Given the description of an element on the screen output the (x, y) to click on. 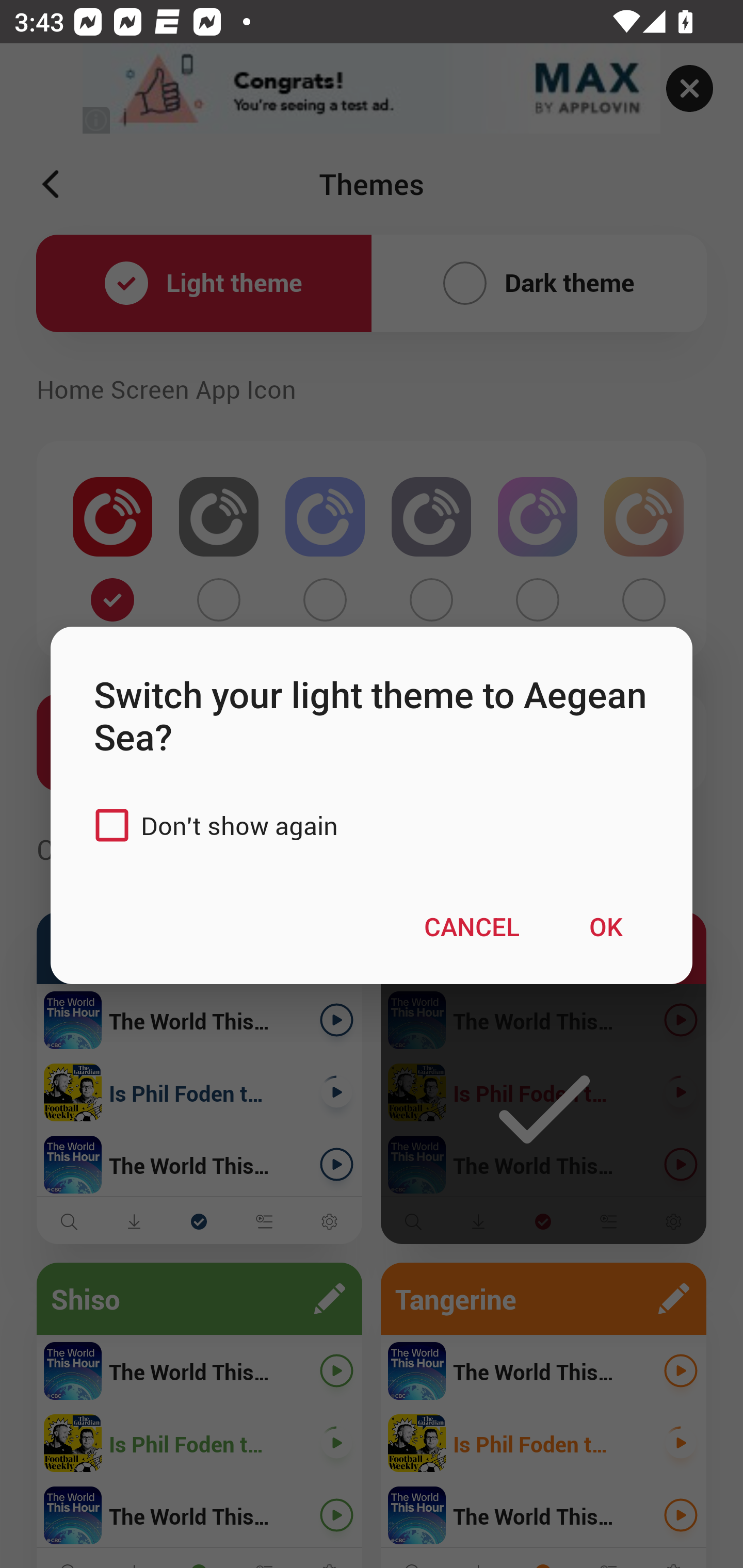
Don't show again (210, 825)
CANCEL (470, 925)
OK (605, 925)
